Given the description of an element on the screen output the (x, y) to click on. 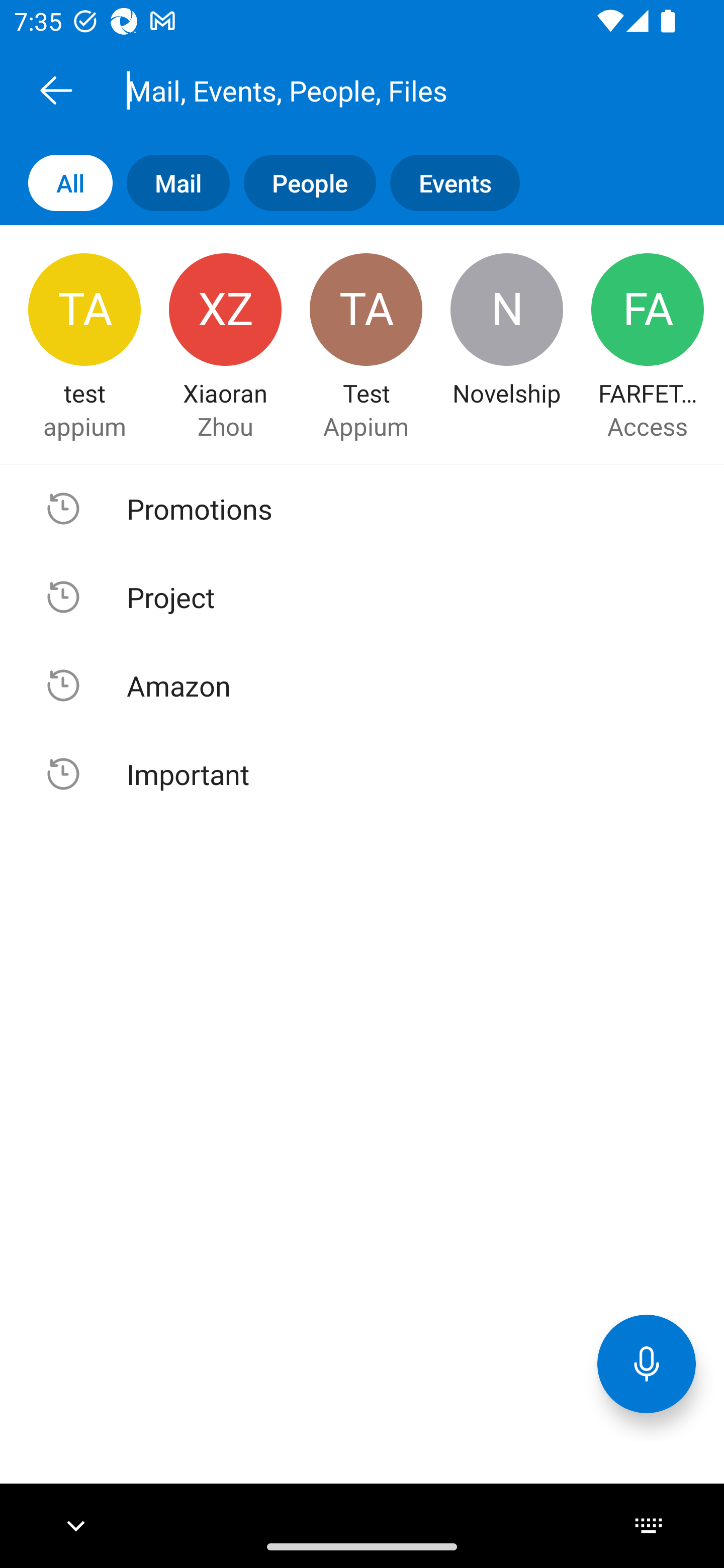
Back (55, 89)
Mail, Events, People, Files (384, 89)
Mail (170, 183)
People (302, 183)
Events (447, 183)
Suggested search , Text, Promotions Promotions (362, 508)
Suggested search , Text, Project Project (362, 597)
Suggested search , Text, Amazon Amazon (362, 685)
Suggested search , Text, Important Important (362, 773)
Voice Assistant (646, 1362)
